Given the description of an element on the screen output the (x, y) to click on. 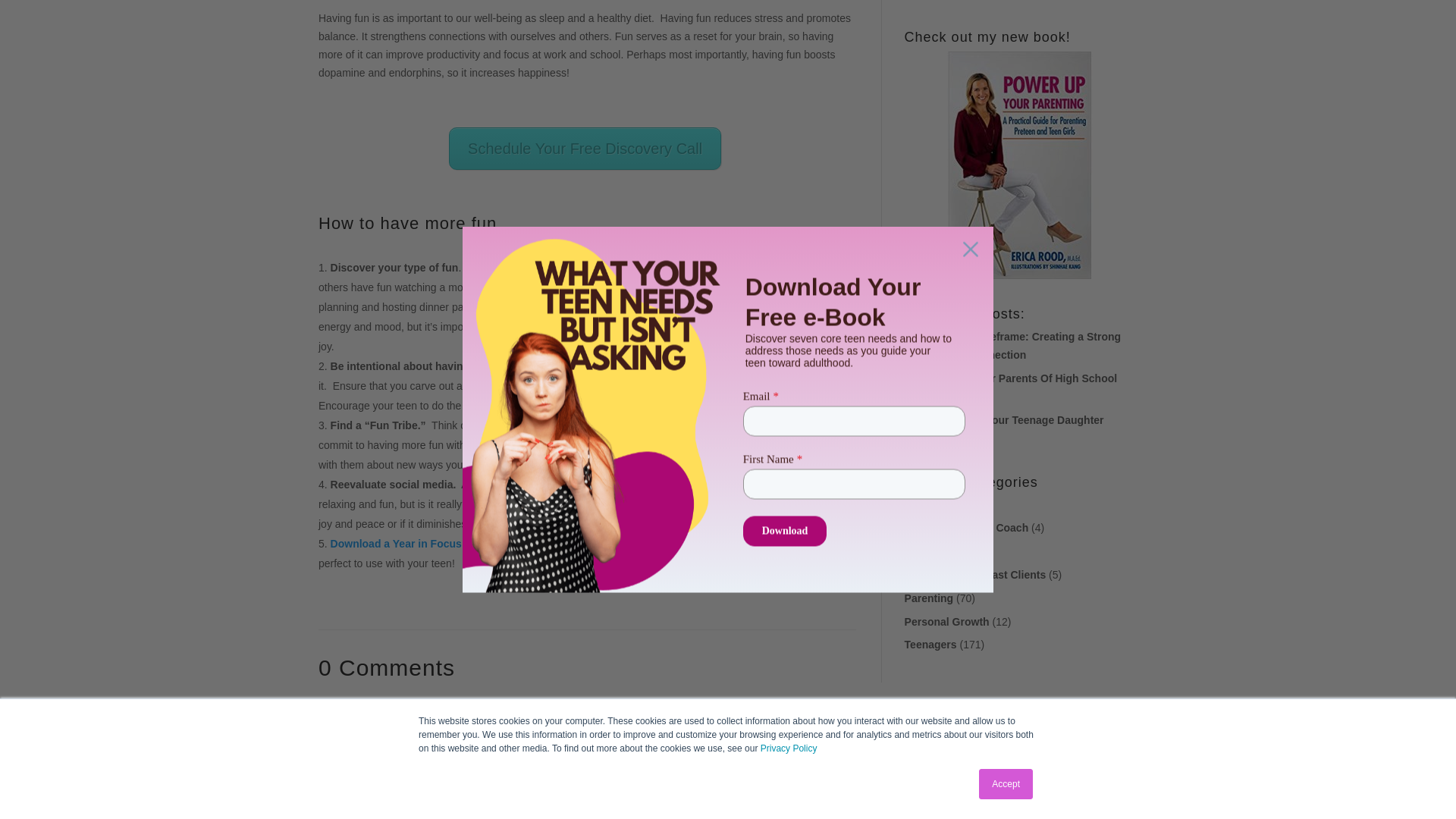
Form 1 (1020, 4)
